Given the description of an element on the screen output the (x, y) to click on. 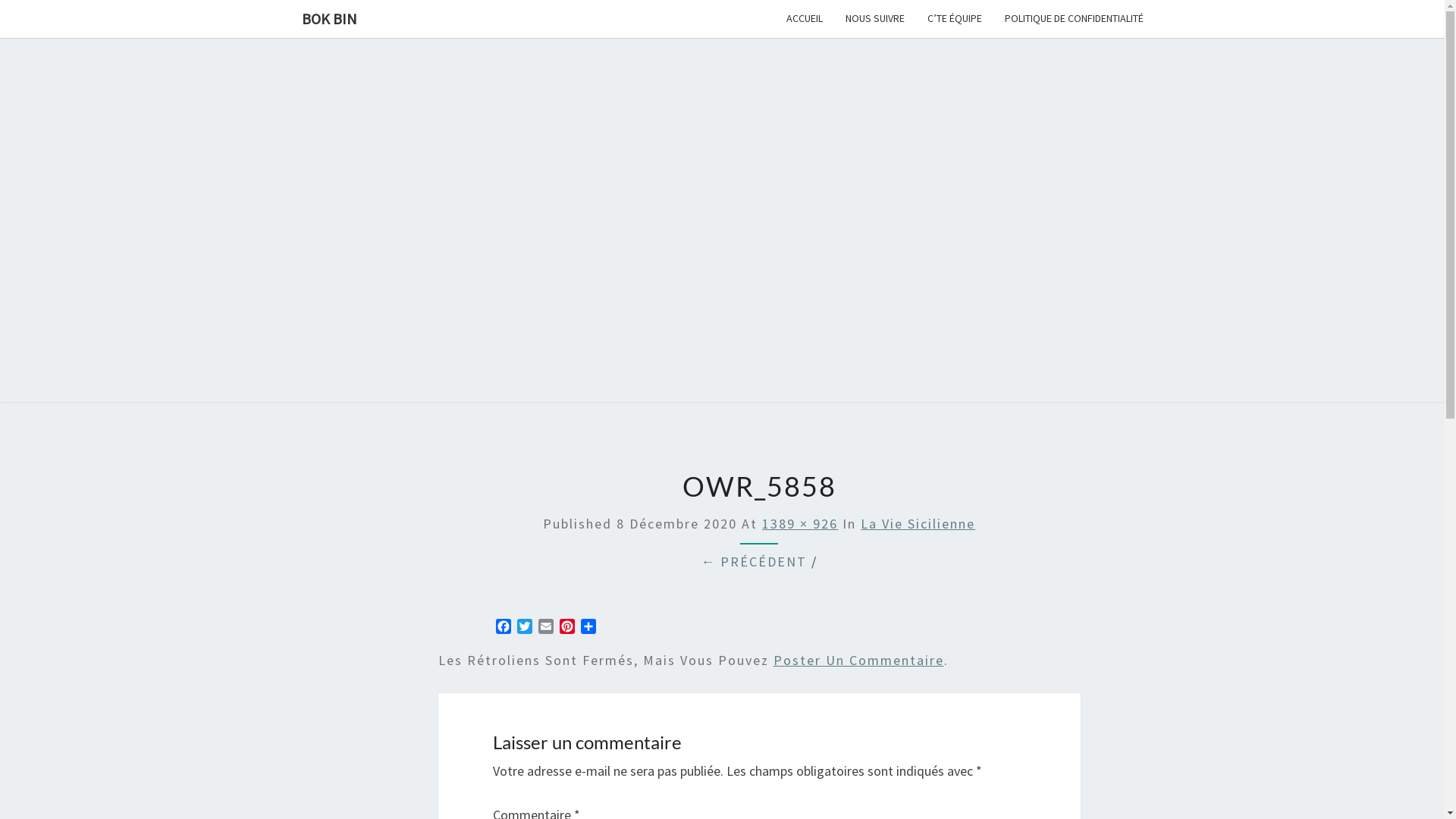
ACCUEIL Element type: text (804, 18)
Pinterest Element type: text (566, 627)
Poster Un Commentaire Element type: text (858, 659)
Facebook Element type: text (503, 627)
Twitter Element type: text (524, 627)
Partager Element type: text (588, 627)
Email Element type: text (545, 627)
NOUS SUIVRE Element type: text (875, 18)
BOK BIN Element type: text (328, 18)
La Vie Sicilienne Element type: text (917, 523)
